Given the description of an element on the screen output the (x, y) to click on. 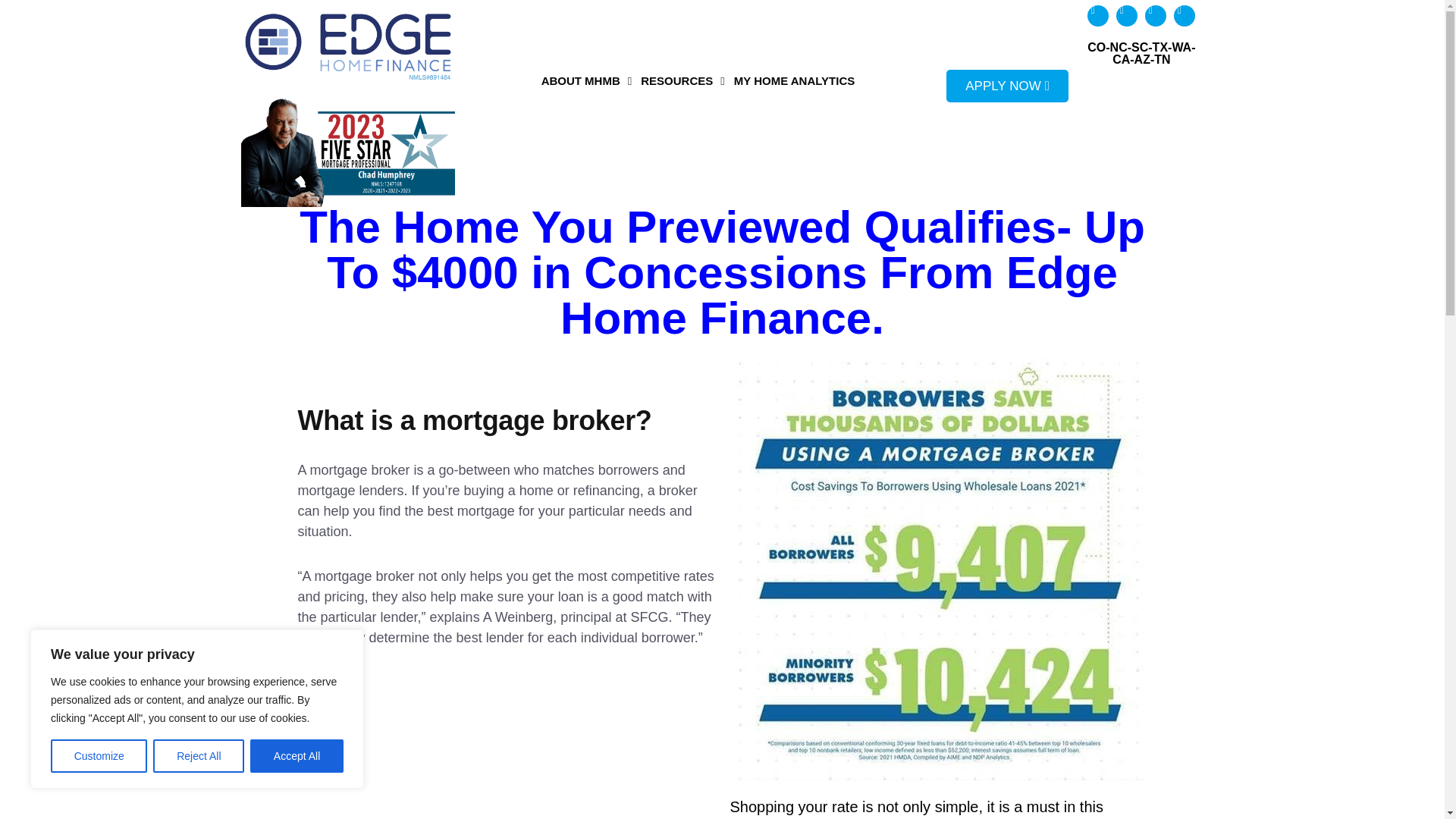
Reject All (198, 756)
MY HOME ANALYTICS (794, 80)
Customize (98, 756)
Accept All (296, 756)
ABOUT MHMB (587, 80)
RESOURCES (682, 80)
APPLY NOW (1007, 85)
